Given the description of an element on the screen output the (x, y) to click on. 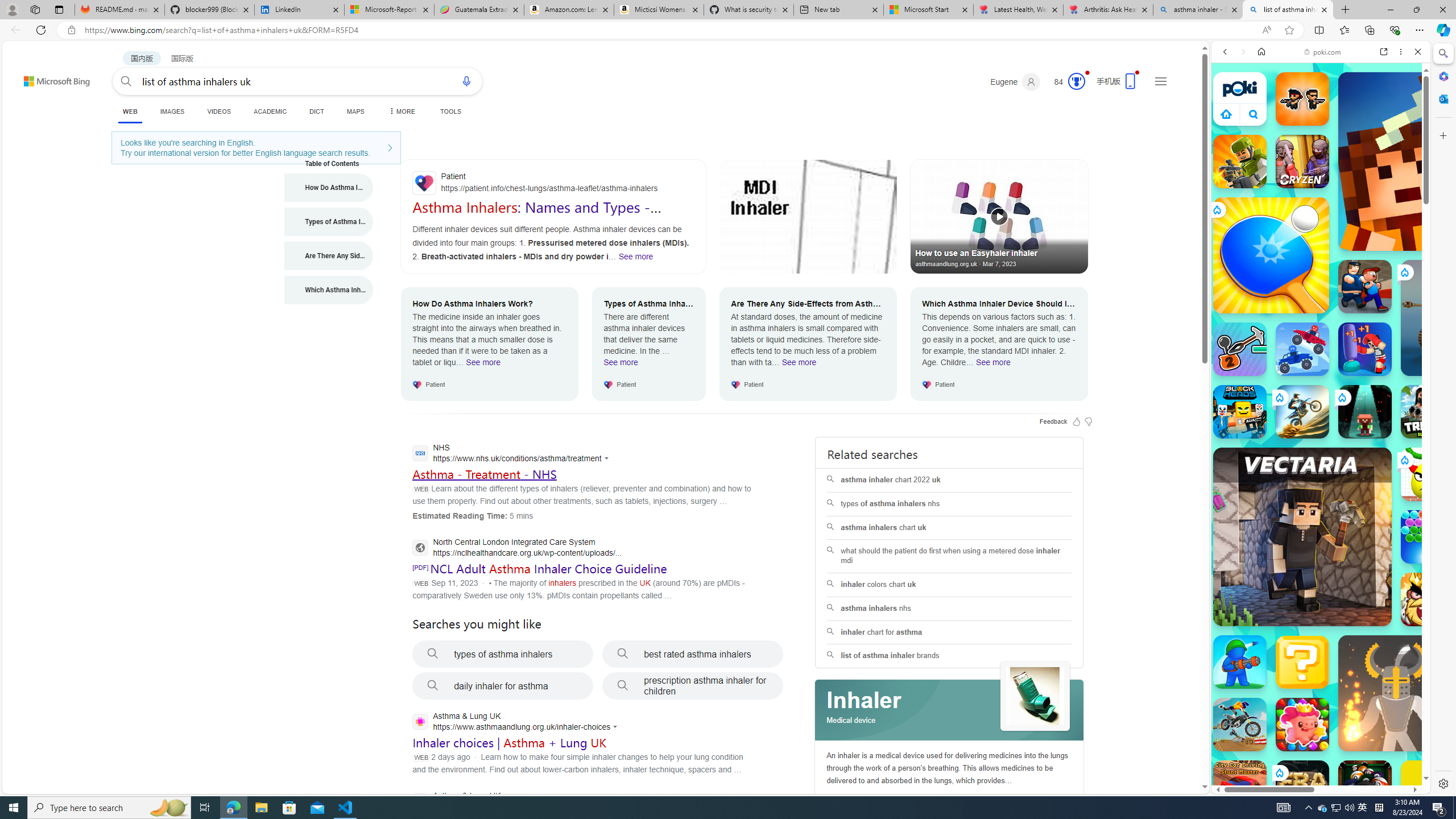
types of asthma inhalers (503, 653)
Hills of Steel (1264, 523)
Like a King Like a King (1427, 599)
types of asthma inhalers (503, 653)
This site scope (1259, 102)
list of asthma inhaler brands (949, 656)
Arthritis: Ask Health Professionals (1107, 9)
Click to scroll right (1407, 549)
Actions for this site (617, 726)
ACADEMIC (269, 111)
Class: aprWdaSScyiJf4Jvmsx9 (1225, 113)
8 Ball Pool With Buddies (1364, 787)
